Given the description of an element on the screen output the (x, y) to click on. 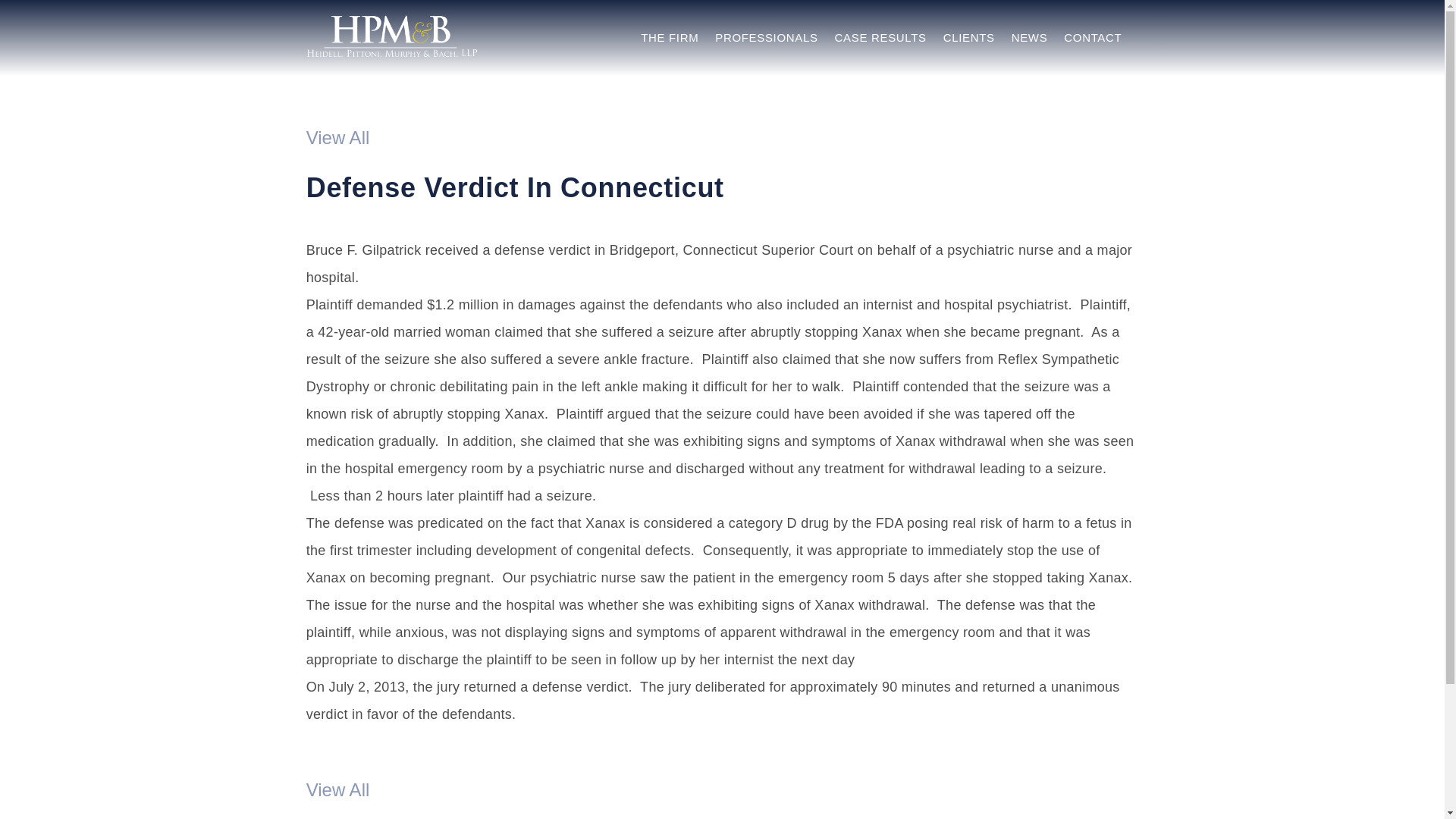
THE FIRM (669, 37)
CONTACT (1092, 37)
PROFESSIONALS (765, 37)
View All (337, 789)
View All (337, 137)
CLIENTS (968, 37)
CASE RESULTS (880, 37)
NEWS (1029, 37)
